Given the description of an element on the screen output the (x, y) to click on. 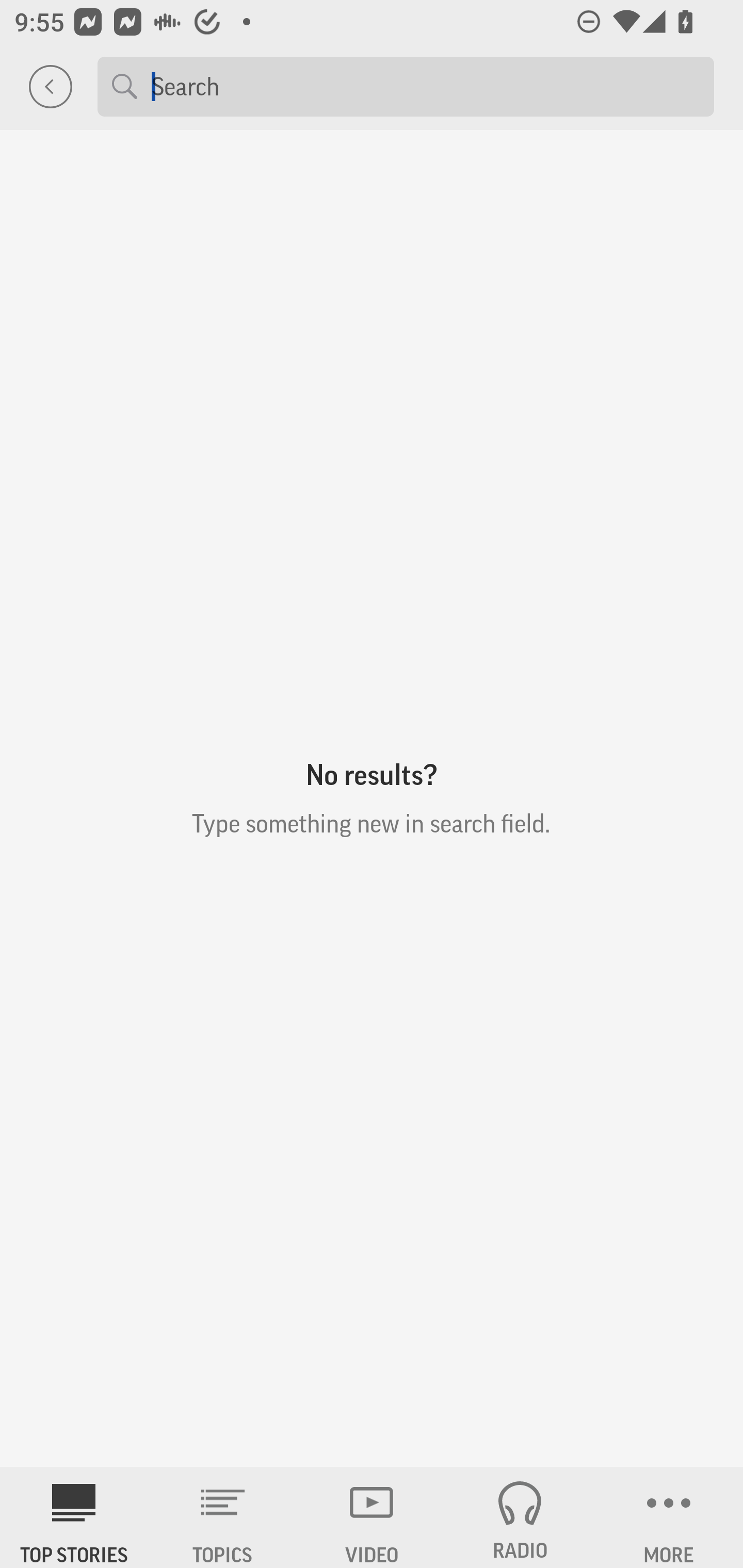
Search (425, 86)
AP News TOP STORIES (74, 1517)
TOPICS (222, 1517)
VIDEO (371, 1517)
RADIO (519, 1517)
MORE (668, 1517)
